Given the description of an element on the screen output the (x, y) to click on. 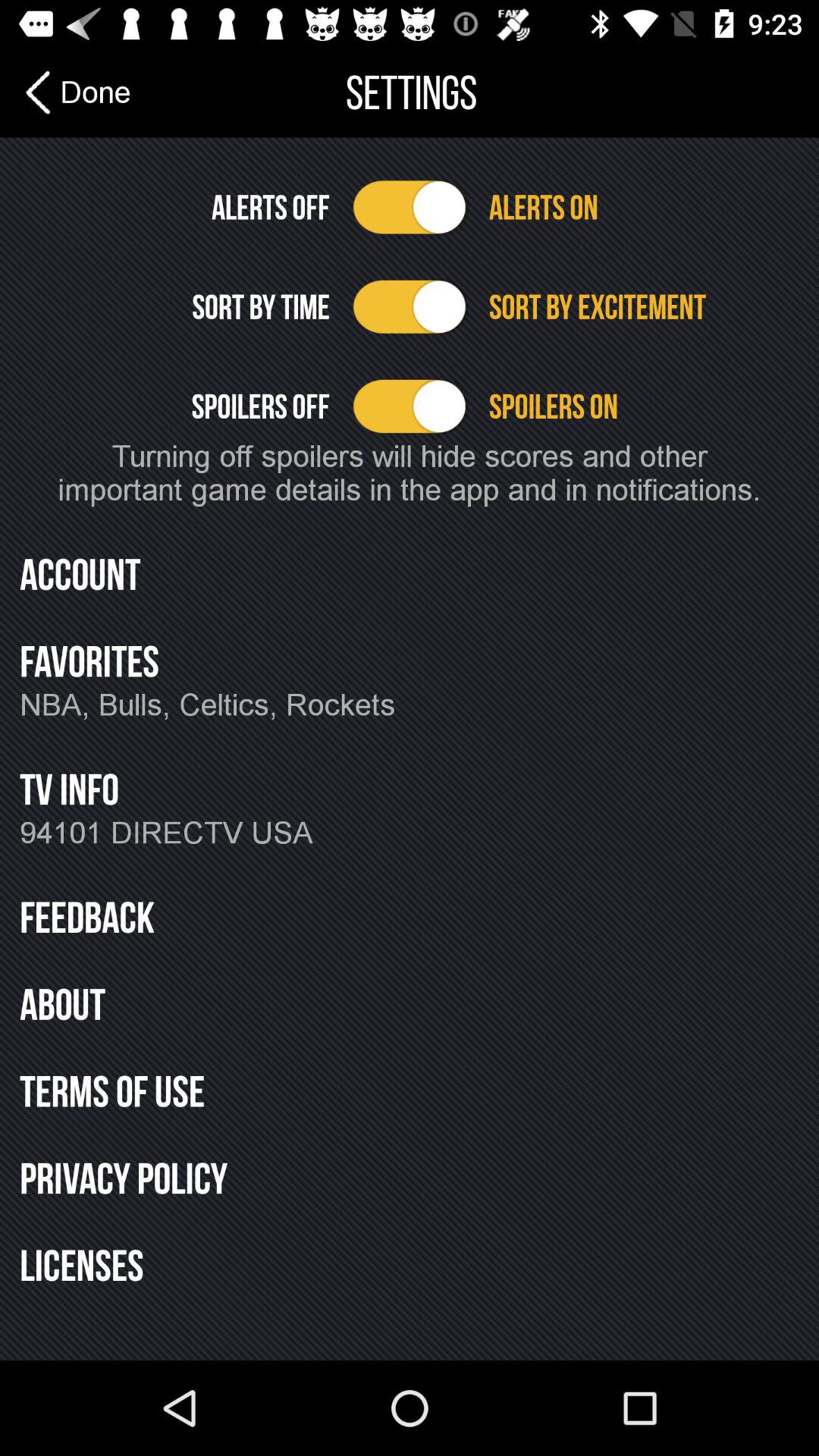
turn off the spoilers on (644, 405)
